Given the description of an element on the screen output the (x, y) to click on. 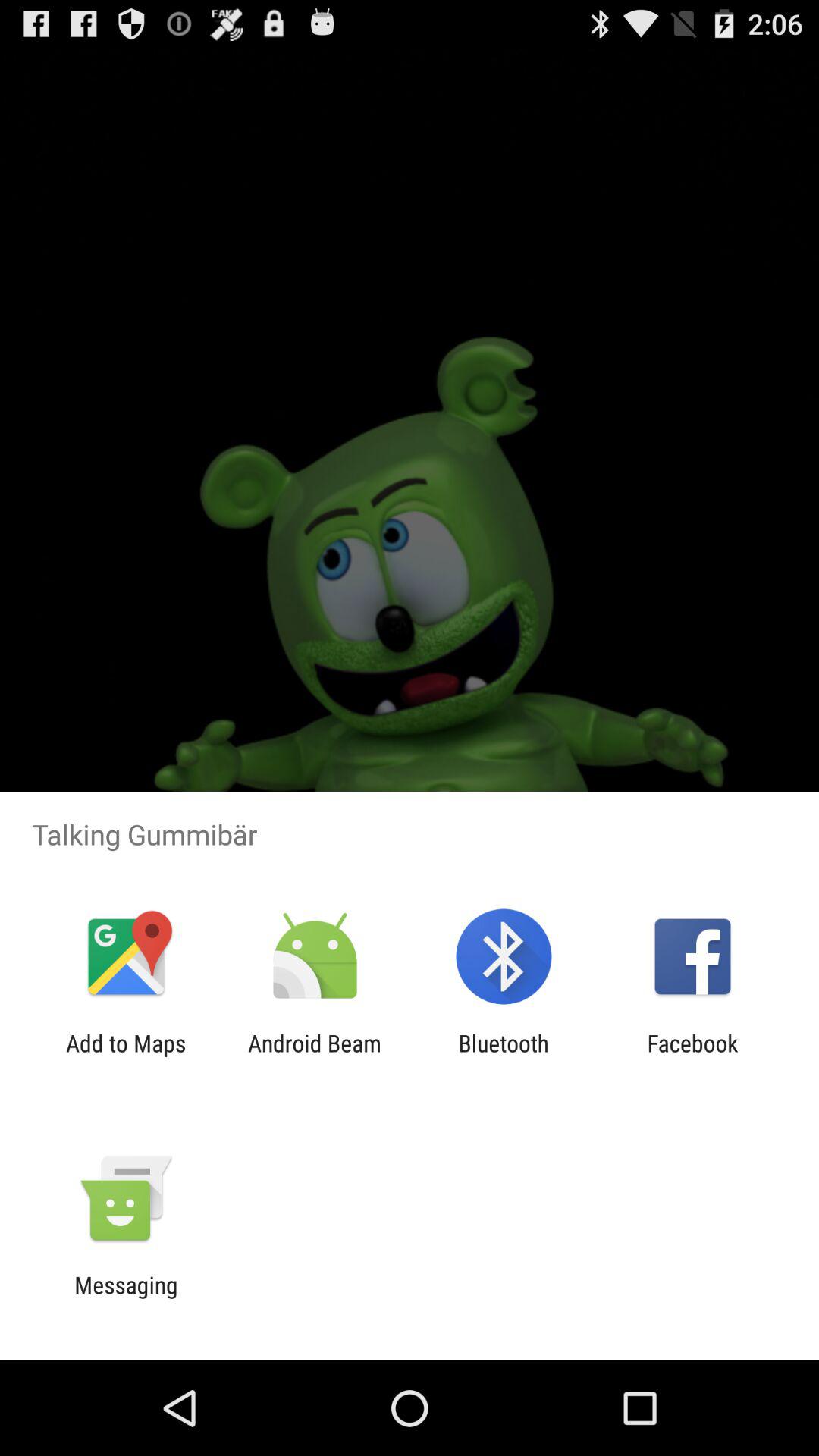
press the item next to facebook icon (503, 1056)
